Given the description of an element on the screen output the (x, y) to click on. 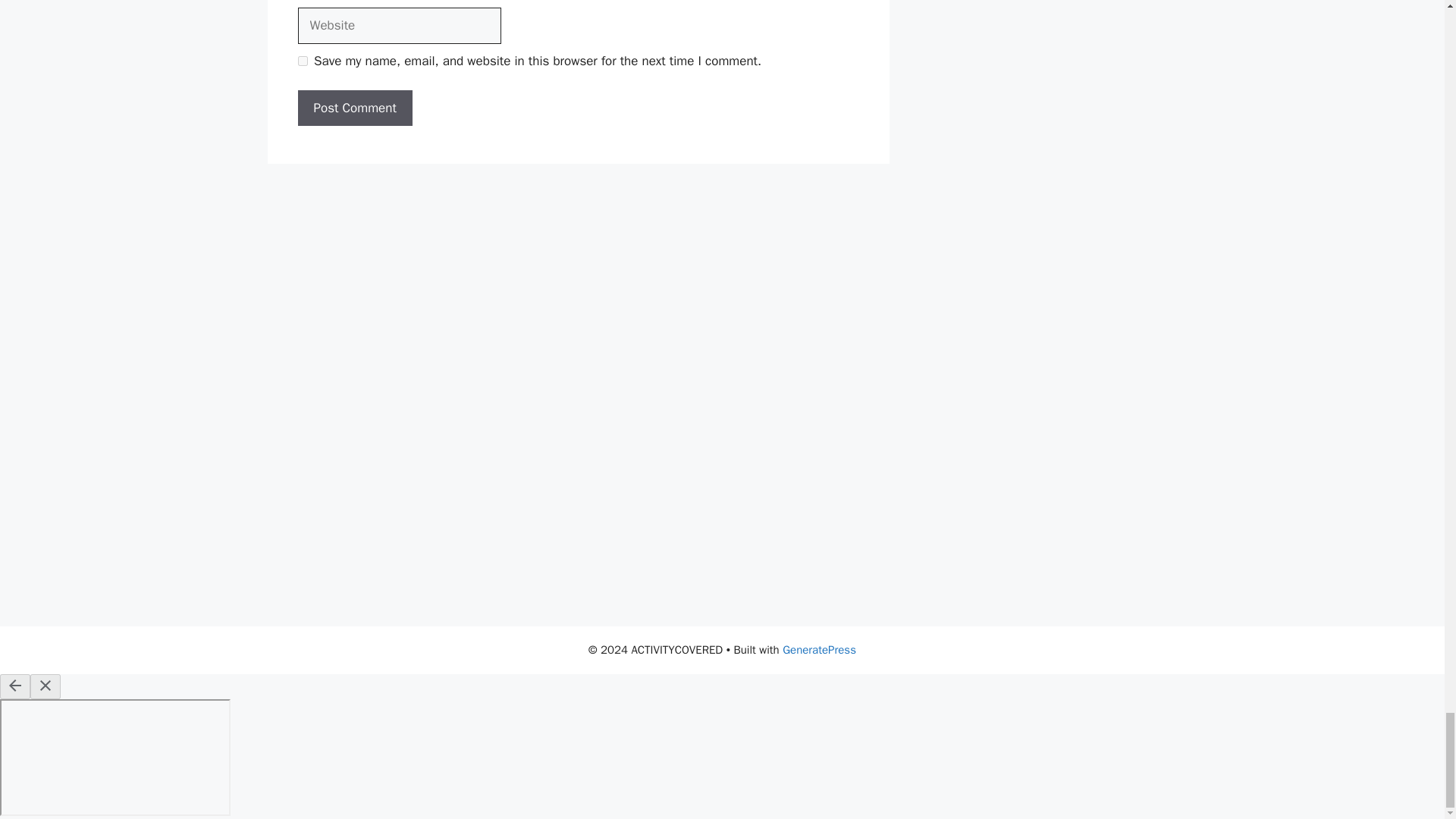
Post Comment (354, 108)
Post Comment (354, 108)
yes (302, 61)
